Given the description of an element on the screen output the (x, y) to click on. 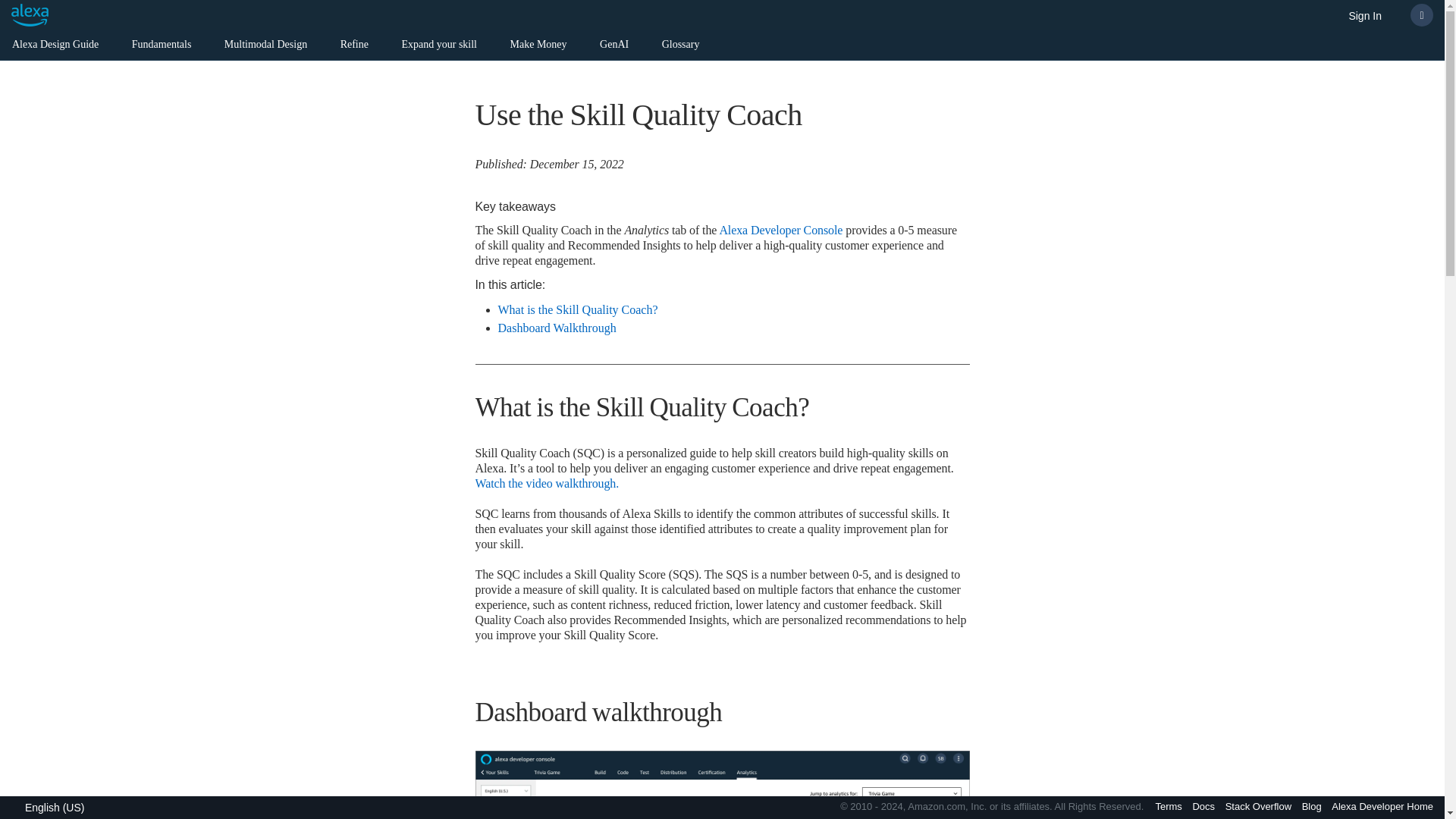
Refine (354, 47)
Alexa Design Guide (55, 47)
Multimodal Design (265, 47)
Sign In (1364, 17)
Fundamentals (162, 47)
